Given the description of an element on the screen output the (x, y) to click on. 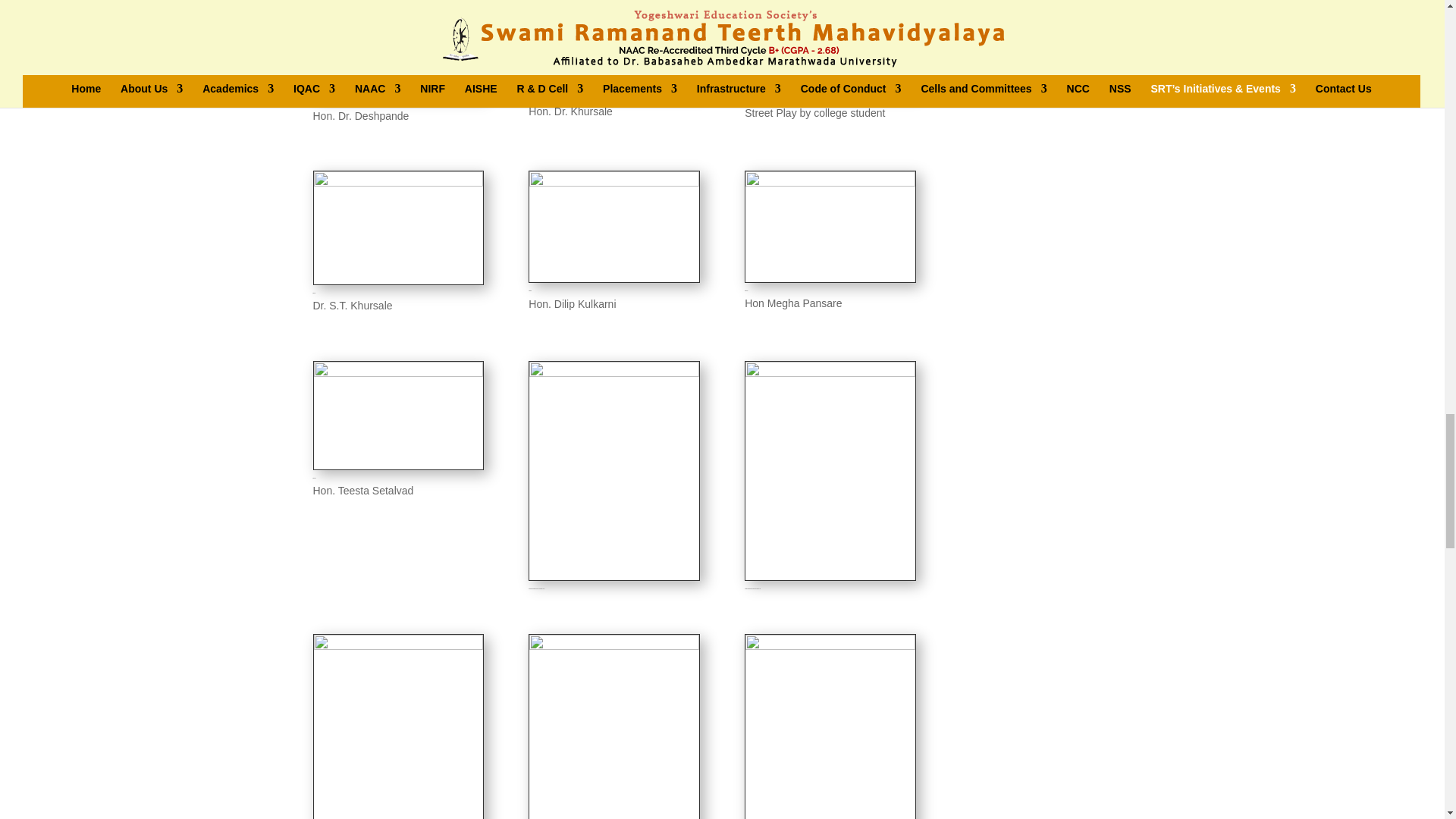
gandhi8 (398, 182)
gandhi10 (829, 182)
gandhi9 (613, 182)
gandhi12 (398, 372)
